Given the description of an element on the screen output the (x, y) to click on. 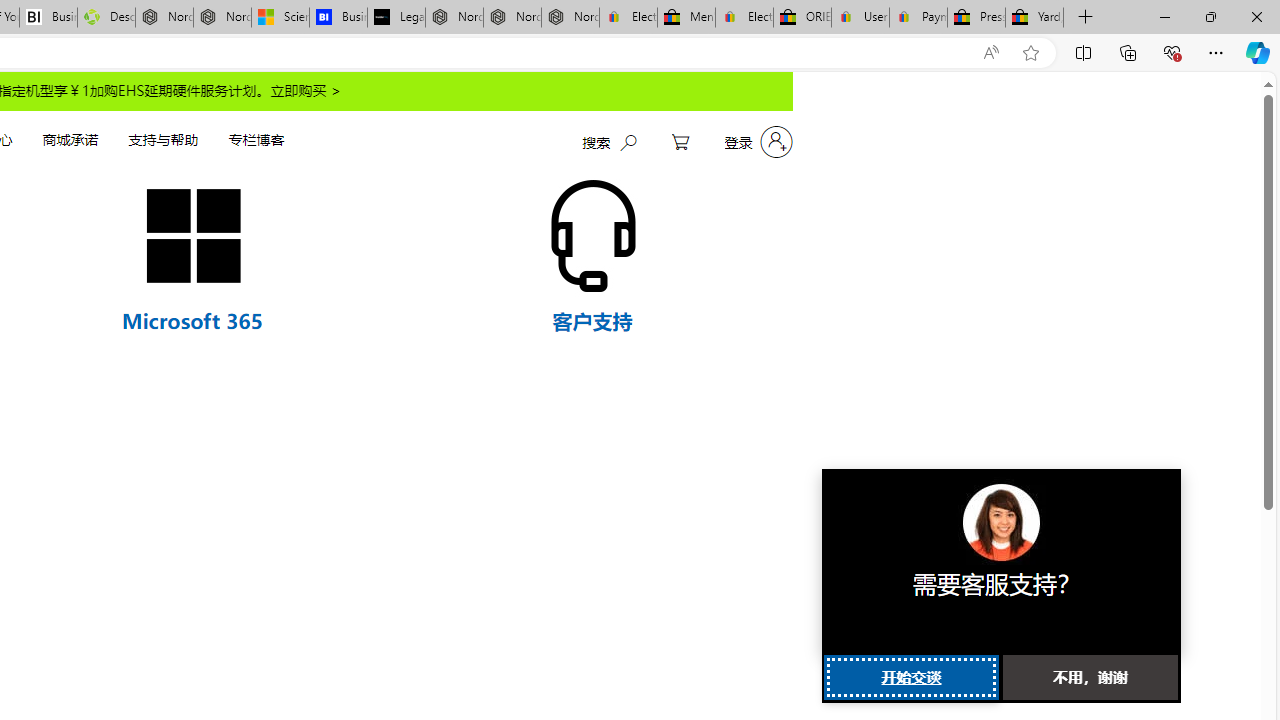
Nordace - Summer Adventures 2024 (164, 17)
Payments Terms of Use | eBay.com (918, 17)
My Cart (679, 142)
